Given the description of an element on the screen output the (x, y) to click on. 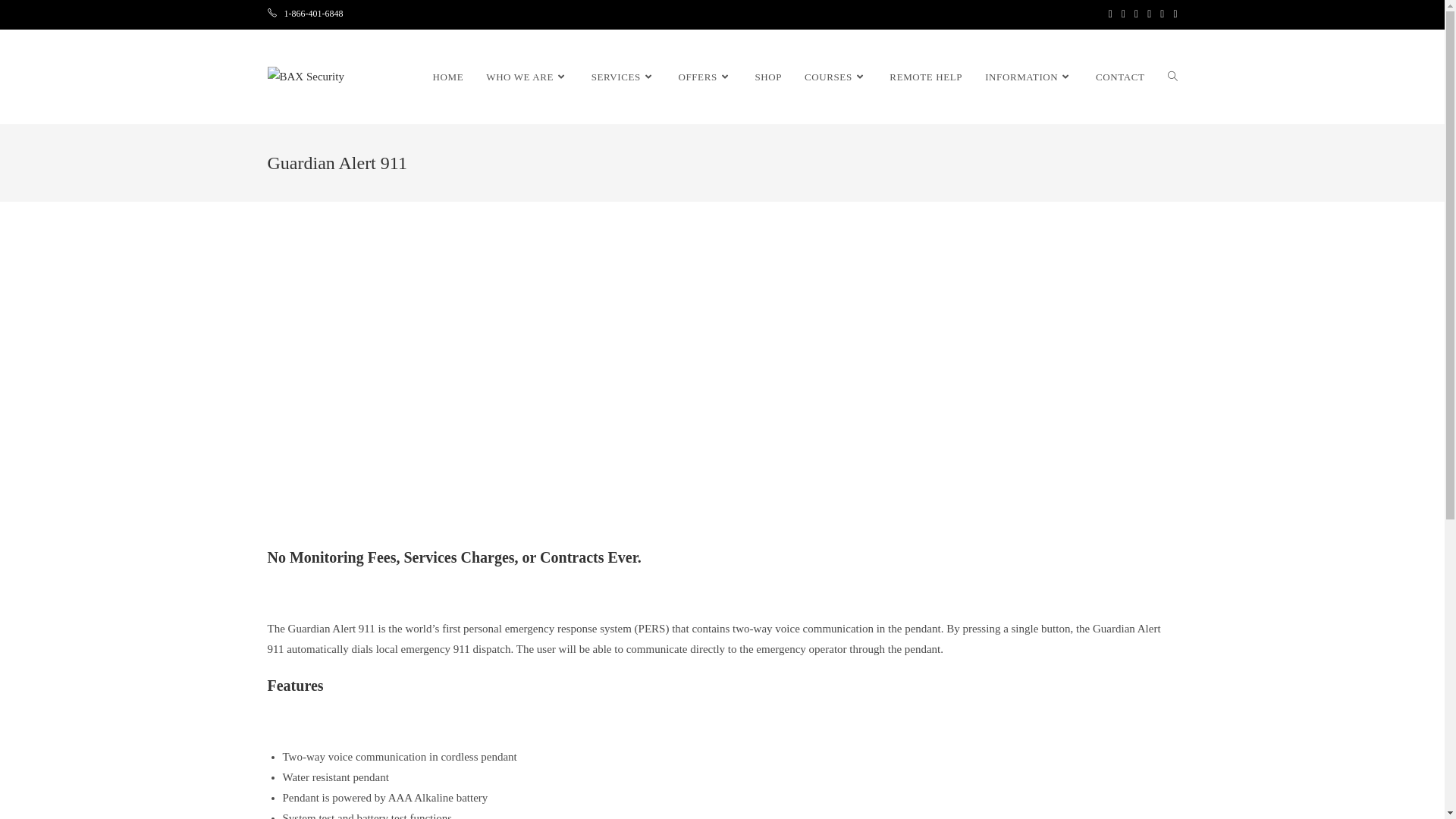
TOGGLE WEBSITE SEARCH Element type: text (1171, 76)
REMOTE HELP Element type: text (925, 76)
HOME Element type: text (448, 76)
SERVICES Element type: text (623, 76)
SHOP Element type: text (768, 76)
OFFERS Element type: text (704, 76)
COURSES Element type: text (835, 76)
CONTACT Element type: text (1120, 76)
INFORMATION Element type: text (1028, 76)
WHO WE ARE Element type: text (526, 76)
